Given the description of an element on the screen output the (x, y) to click on. 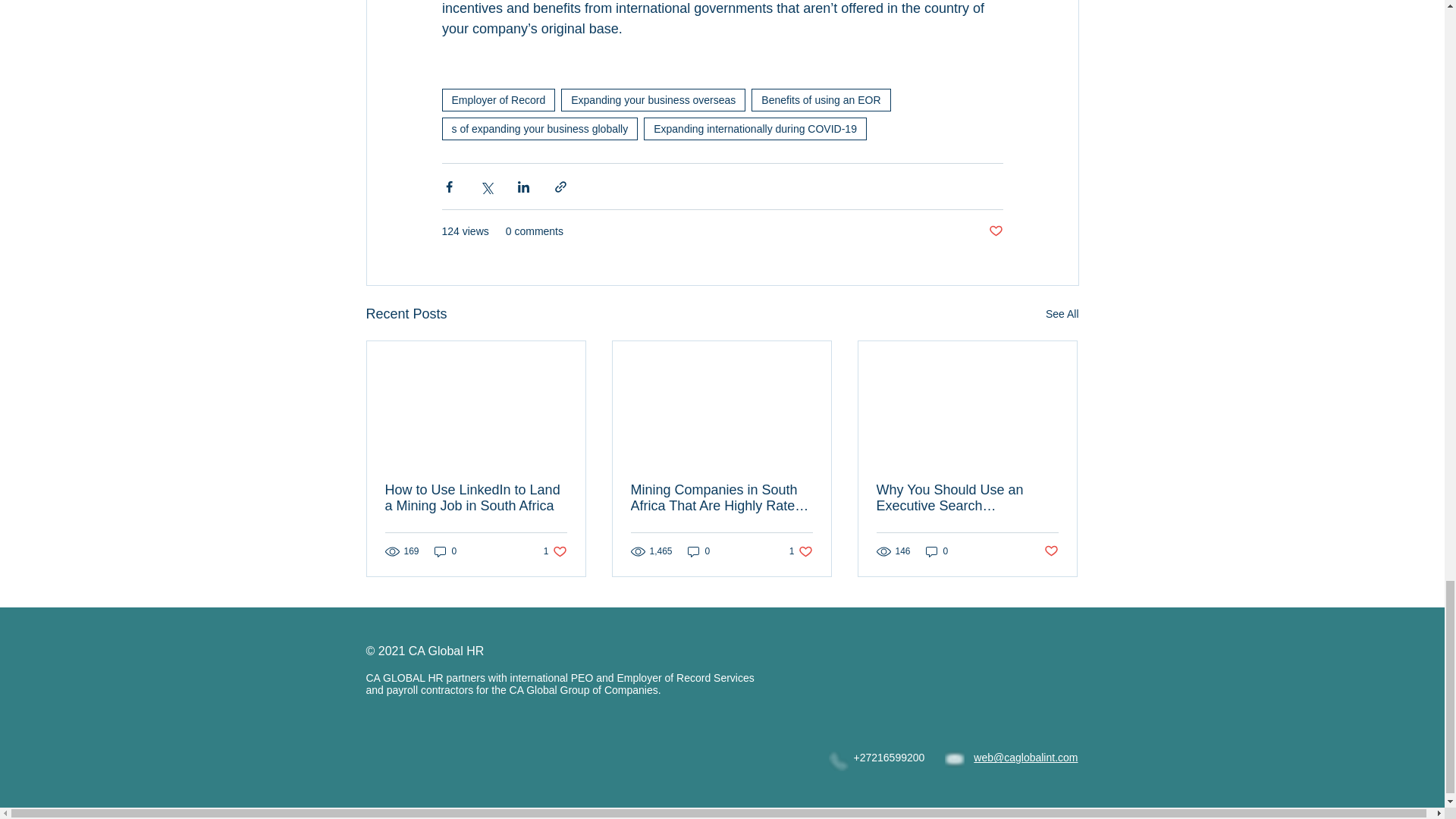
Benefits of using an EOR (820, 99)
Employer of Record (497, 99)
Expanding internationally during COVID-19 (754, 128)
s of expanding your business globally (539, 128)
Expanding your business overseas (652, 99)
